Given the description of an element on the screen output the (x, y) to click on. 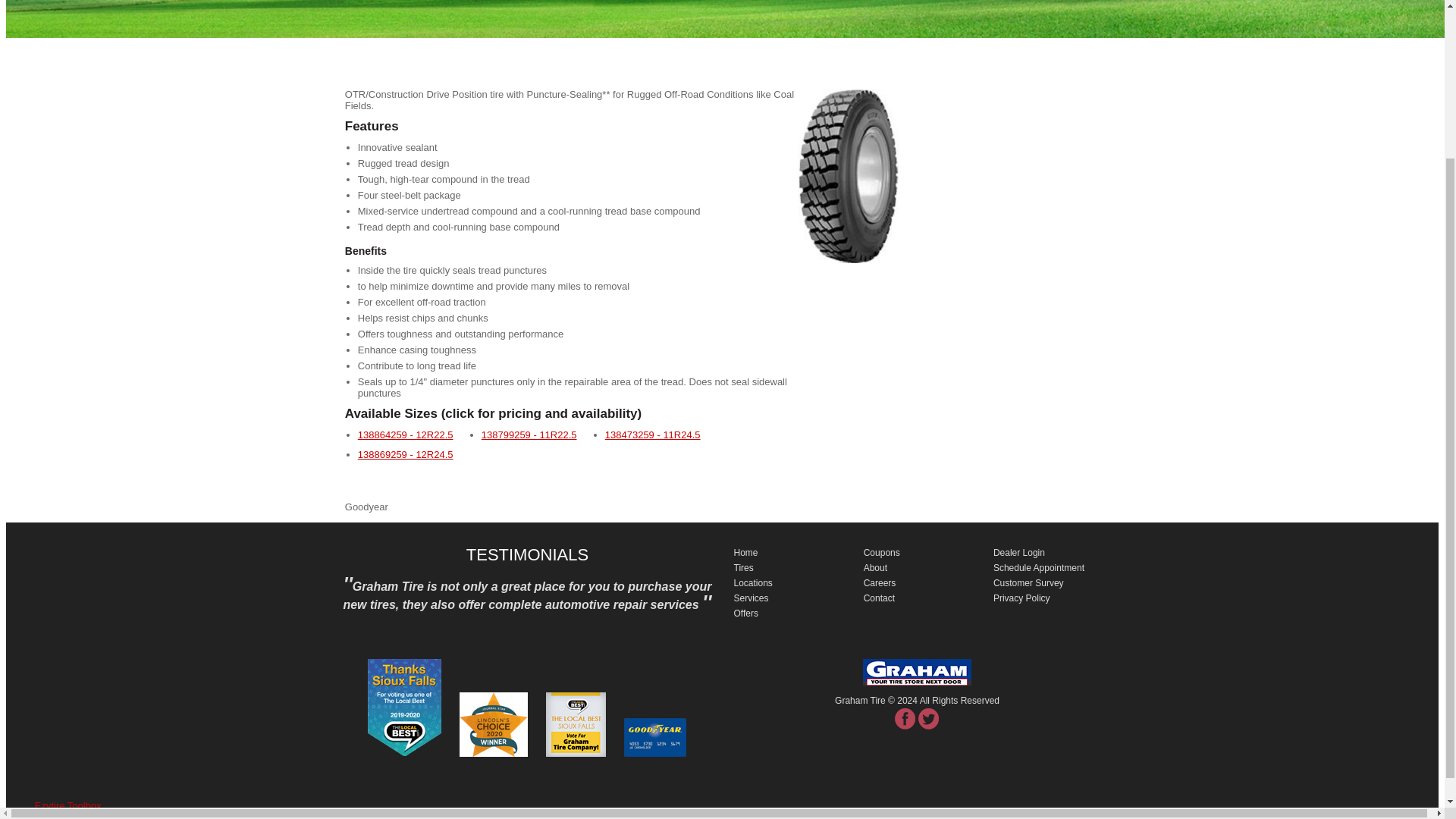
Privacy Policy (1020, 597)
Schedule Appointment (1038, 567)
Tires (743, 567)
Dealer Login (1018, 552)
Services (750, 597)
Contact (879, 597)
138799259 - 11R22.5 (528, 434)
138473259 - 11R24.5 (652, 434)
Offers (745, 613)
About (874, 567)
Ezytire Toolbox (67, 805)
138869259 - 12R24.5 (405, 454)
Home (745, 552)
Locations (753, 583)
Customer Survey (1028, 583)
